Given the description of an element on the screen output the (x, y) to click on. 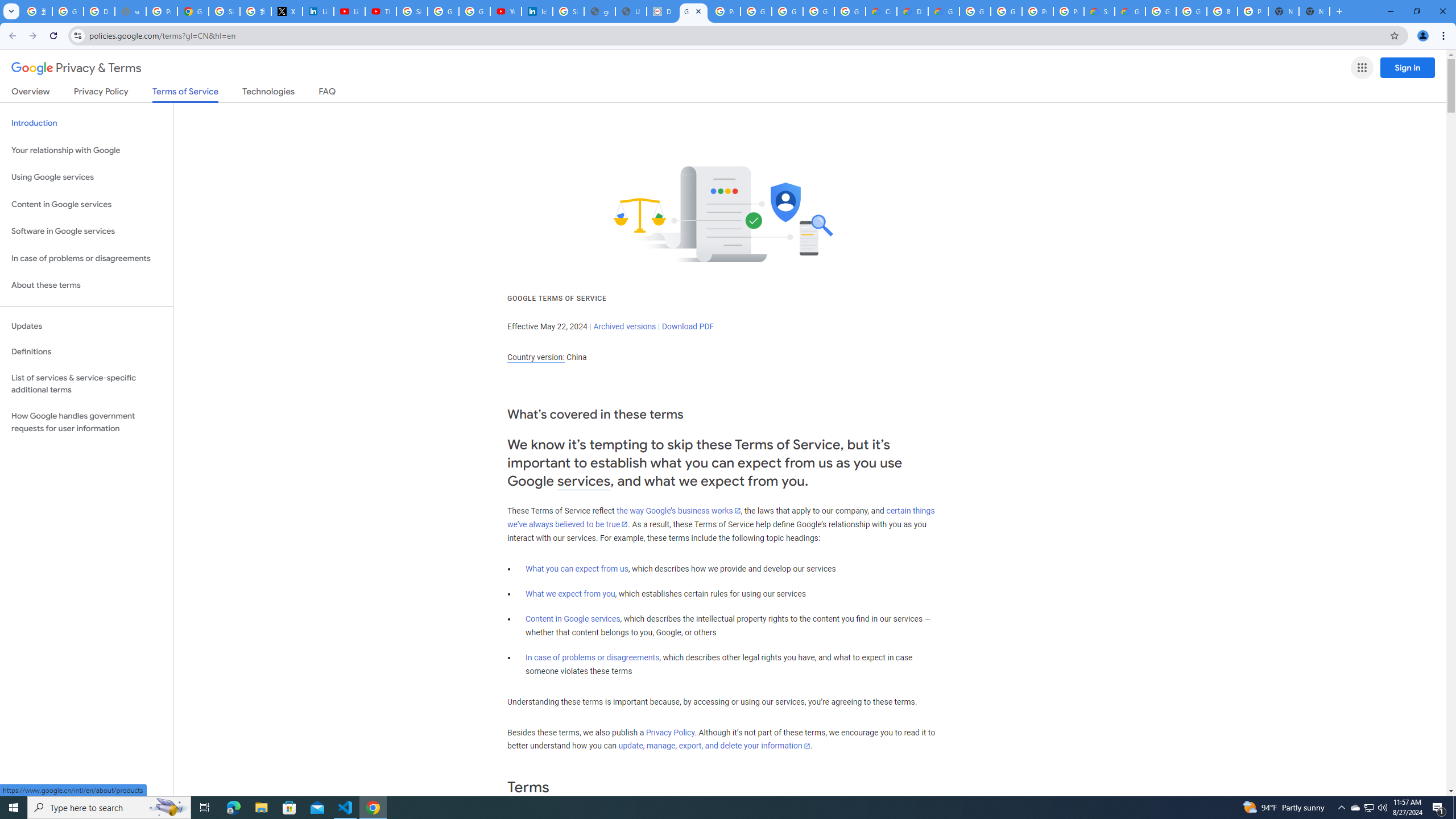
Google Cloud Platform (974, 11)
Updates (86, 325)
LinkedIn Privacy Policy (318, 11)
services (583, 480)
